Given the description of an element on the screen output the (x, y) to click on. 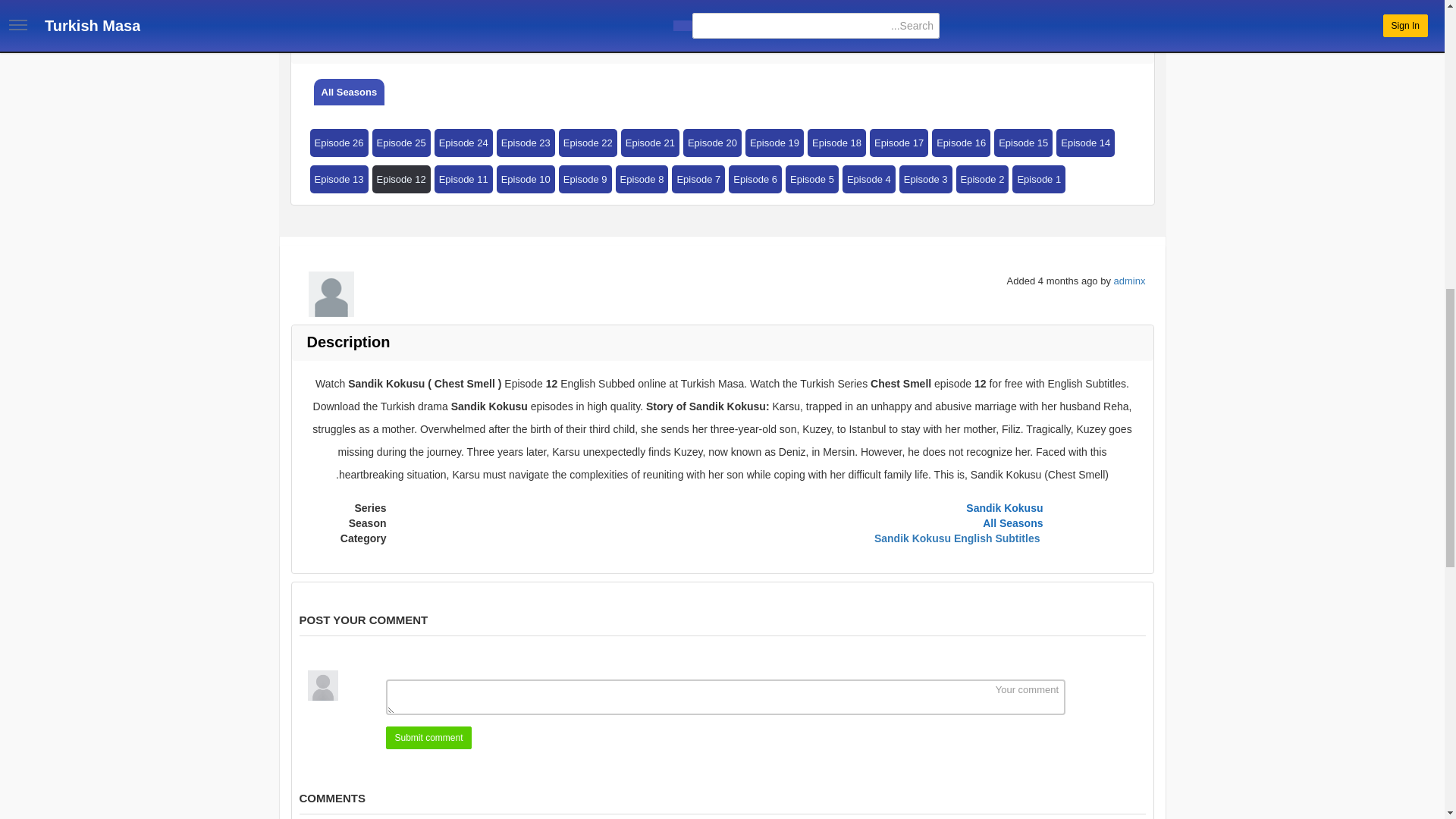
Sandik Kokusu Episode 26 English Subtitles HD (338, 142)
Sandik Kokusu Episode 13 English Subtitles HD (338, 179)
Sandik Kokusu Episode 10 English Subtitles HD (525, 179)
Sandik Kokusu Episode 16 English Subtitles HD (960, 142)
Sandik Kokusu Episode 22 English Subtitles HD (588, 142)
Sandik Kokusu Episode 11 English Subtitles HD (463, 179)
Sandik Kokusu Episode 14 English Subtitles HD (1086, 142)
Sandik Kokusu Episode 15 English Subtitles HD (1023, 142)
Sandik Kokusu Episode 17 English Subtitles HD (898, 142)
Sandik Kokusu Episode 21 English Subtitles HD (650, 142)
Sandik Kokusu Episode 19 English Subtitles HD (774, 142)
Sandik Kokusu Episode 12 English Subtitles HD (401, 179)
Sandik Kokusu Episode 20 English Subtitles HD (711, 142)
Sandik Kokusu Episode 23 English Subtitles HD (525, 142)
Sandik Kokusu Episode 24 English Subtitles HD (463, 142)
